Given the description of an element on the screen output the (x, y) to click on. 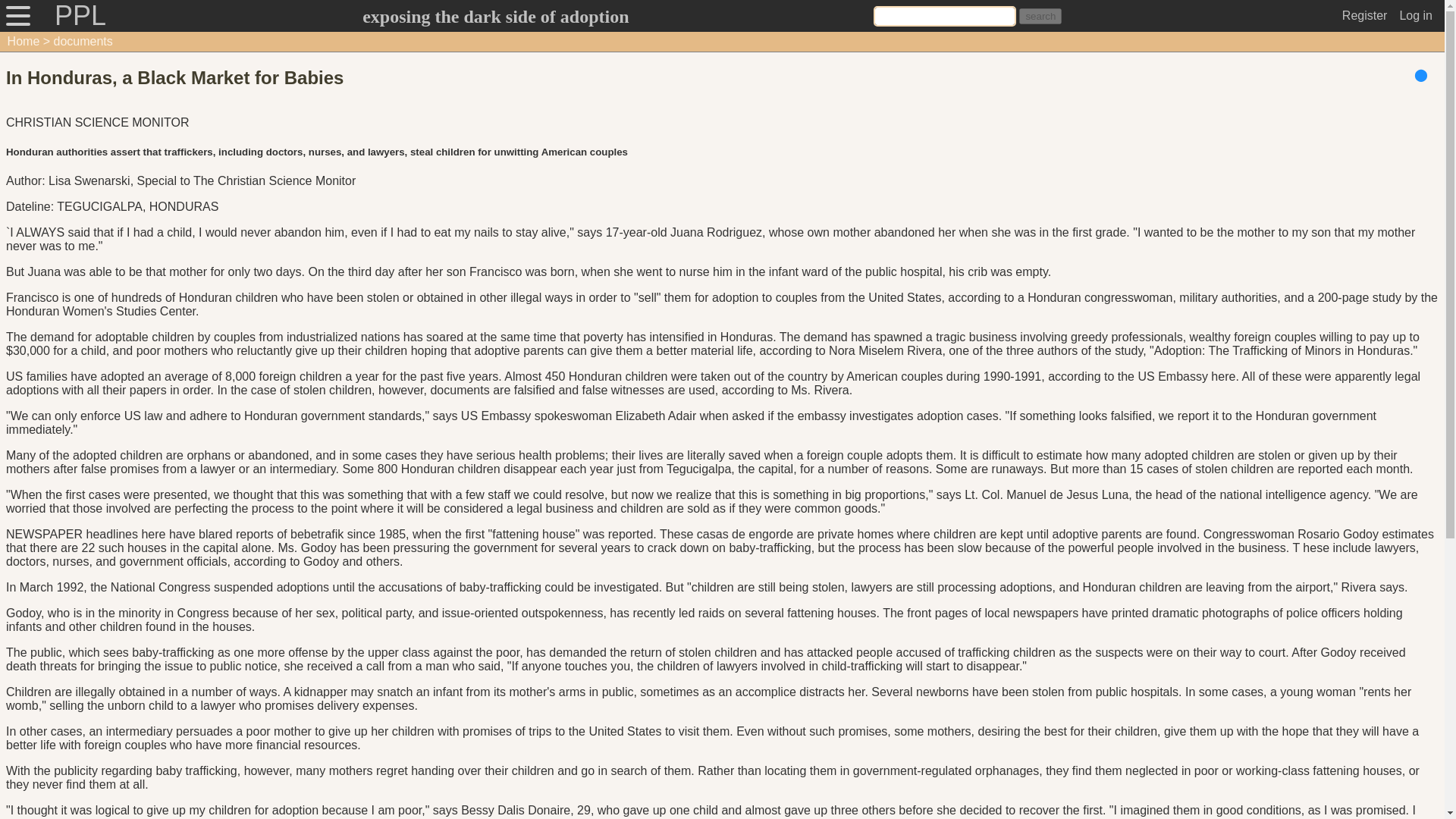
PPL (80, 15)
search (1040, 16)
Register (1364, 15)
Log in (1415, 15)
search (1040, 16)
documents (83, 41)
Home (23, 41)
